Given the description of an element on the screen output the (x, y) to click on. 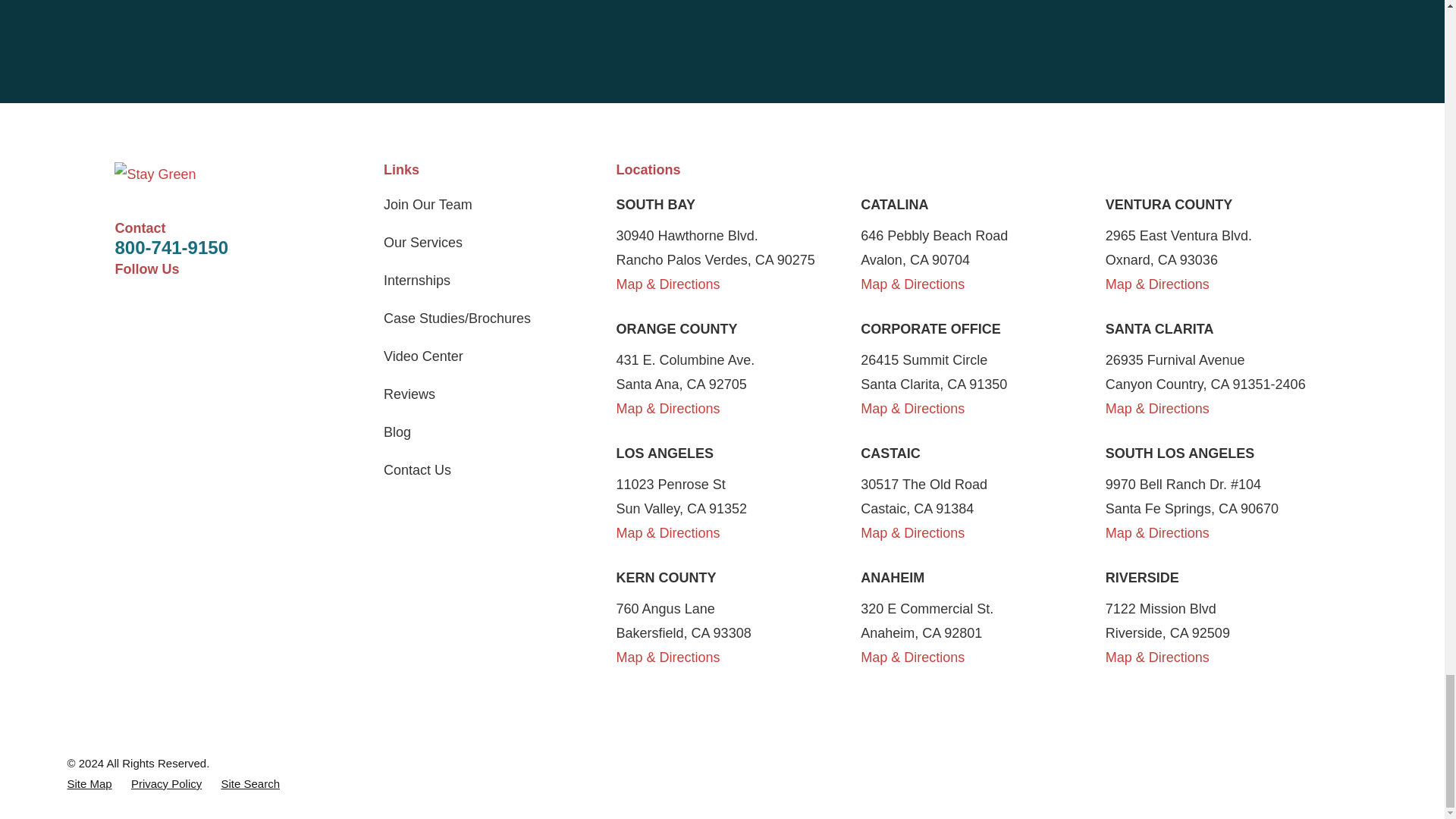
Home (203, 174)
LinkedIn (202, 301)
Twitter (163, 301)
YouTube (241, 301)
Facebook (124, 301)
Instagram (282, 301)
